Given the description of an element on the screen output the (x, y) to click on. 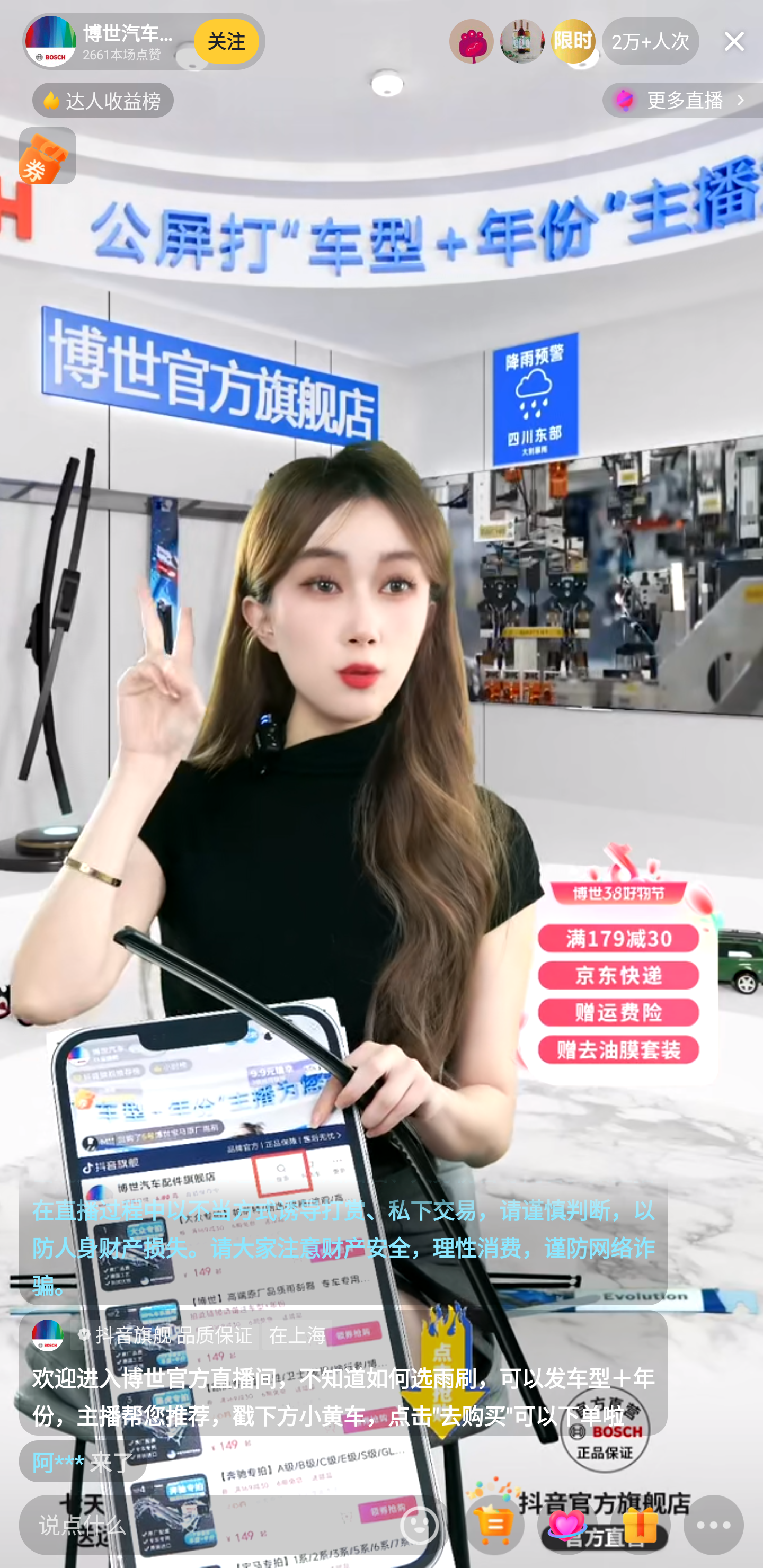
榜一 小*** 1音浪 (471, 41)
榜二 贵*** 1音浪 (522, 41)
榜三 绿*** (572, 41)
主播博世汽车配件旗舰店 2661本场点赞  博世汽车配件旗舰店 2661本场点赞 关注 (143, 41)
2万+人次 (650, 41)
关注 (226, 41)
关闭 (733, 41)
达人收益榜，按钮 (102, 100)
更多直播 (682, 100)
优惠券 按钮 (47, 156)
* 吾*** 来了 (110, 1460)
说点什么 (205, 1524)
表情入口 (419, 1524)
商品列表 (493, 1526)
礼物 (640, 1526)
更多面板 按钮 (713, 1526)
小心心 (567, 1524)
